Given the description of an element on the screen output the (x, y) to click on. 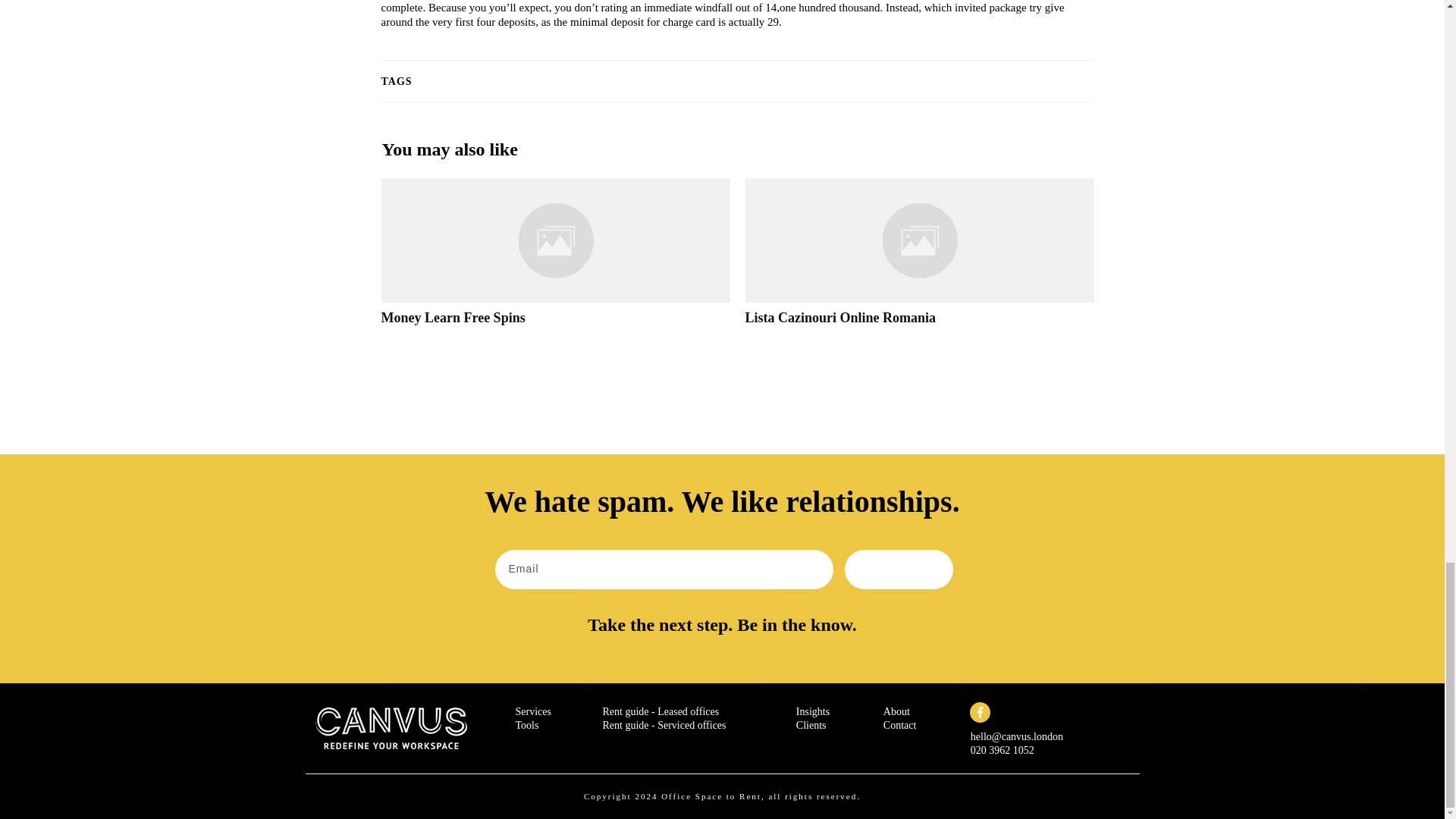
Insights (812, 711)
Services (533, 711)
Lista Cazinouri Online Romania (918, 260)
canvus logo (391, 728)
Lista Cazinouri Online Romania (840, 317)
Rent guide - Leased offices (660, 711)
Lista Cazinouri Online Romania (840, 317)
Subscribe (898, 568)
Tools (526, 725)
About (896, 711)
